Given the description of an element on the screen output the (x, y) to click on. 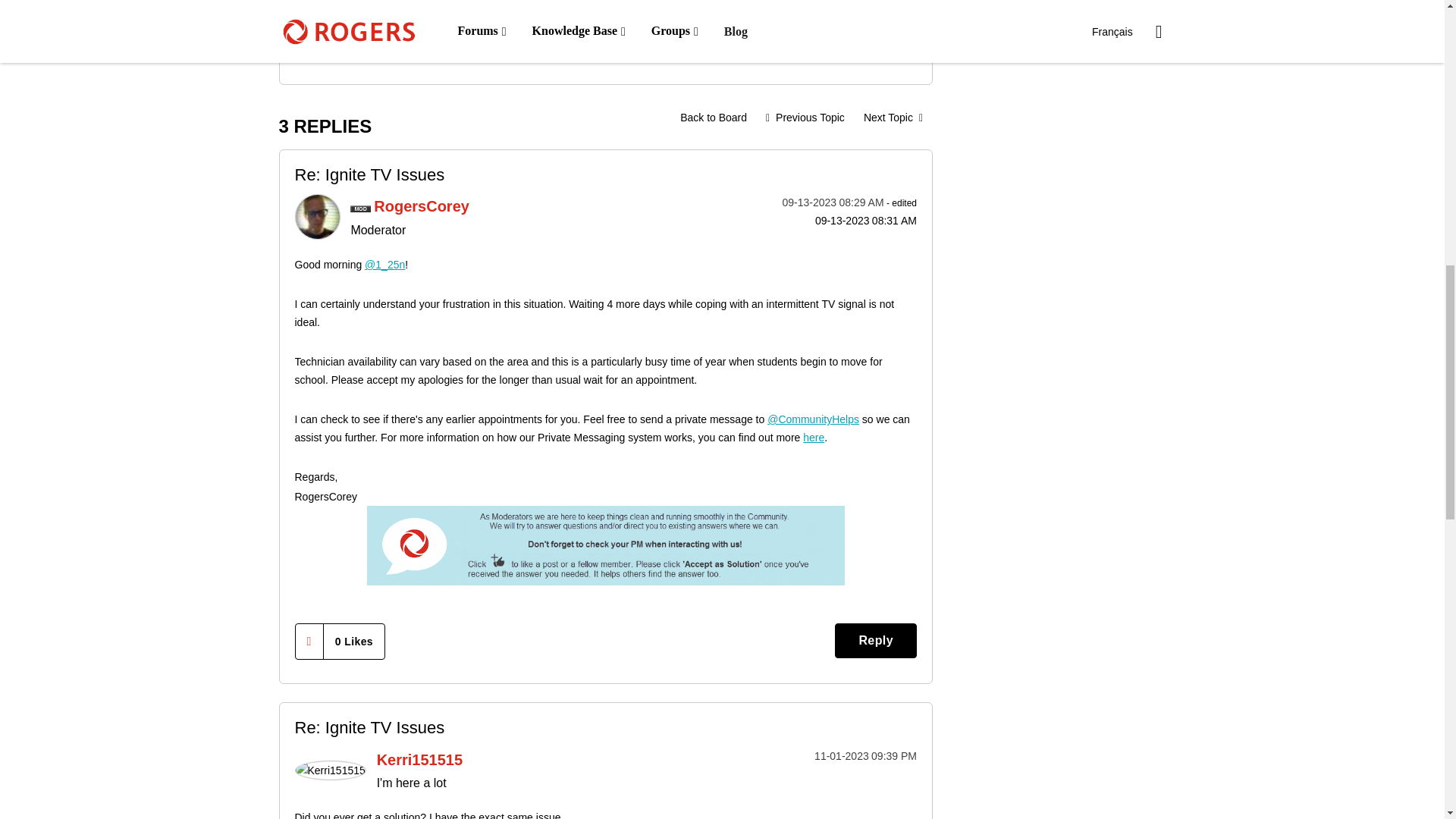
TV (713, 117)
The total number of likes this post has received. (353, 41)
